Given the description of an element on the screen output the (x, y) to click on. 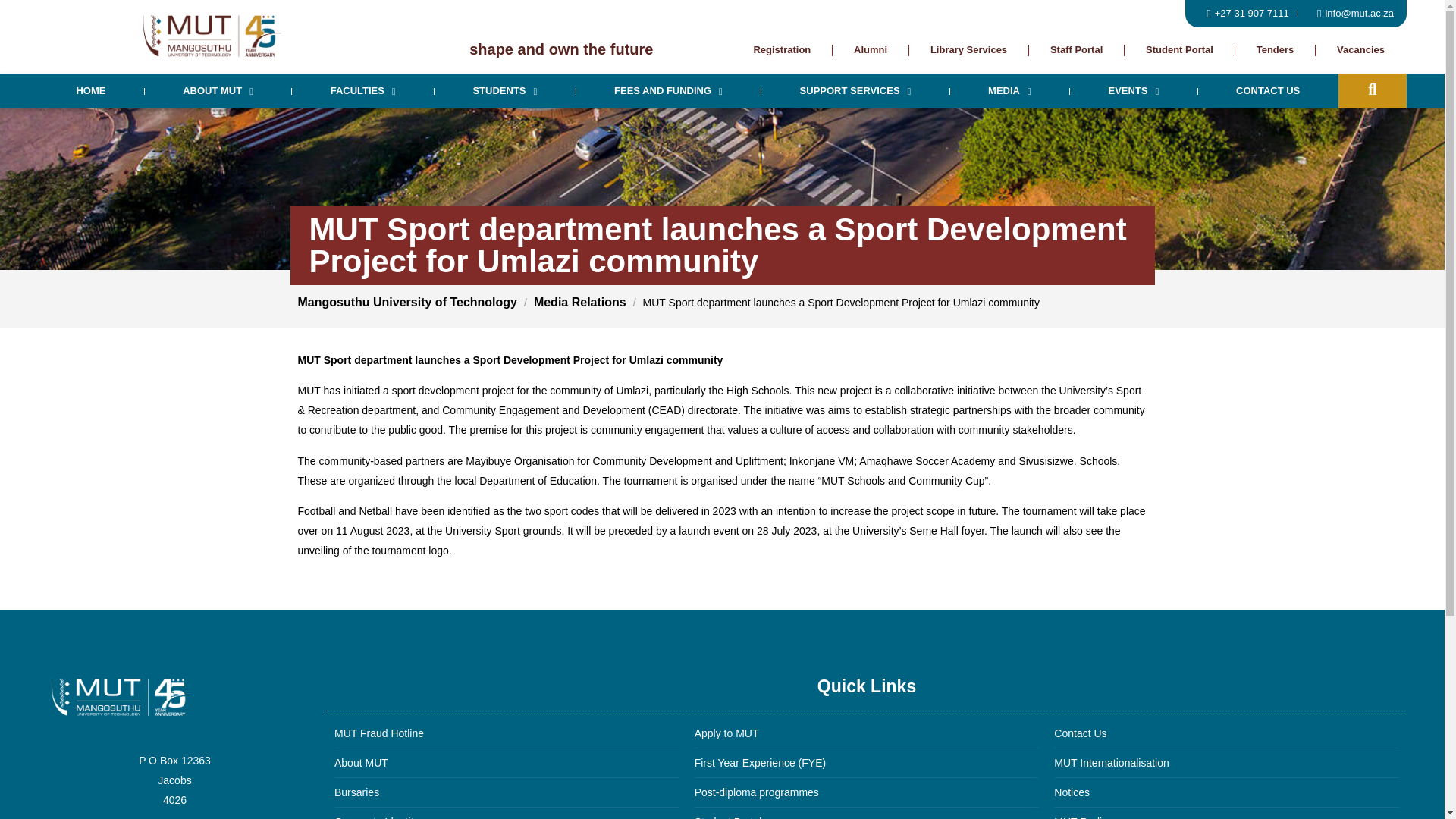
Alumni (869, 49)
Student Portal (1179, 49)
search-button (1372, 89)
HOME (90, 90)
Registration (782, 49)
Tenders (1275, 49)
Library Services (968, 49)
Vacancies (1360, 49)
FACULTIES (362, 90)
Staff Portal (1075, 49)
ABOUT MUT (218, 90)
